Given the description of an element on the screen output the (x, y) to click on. 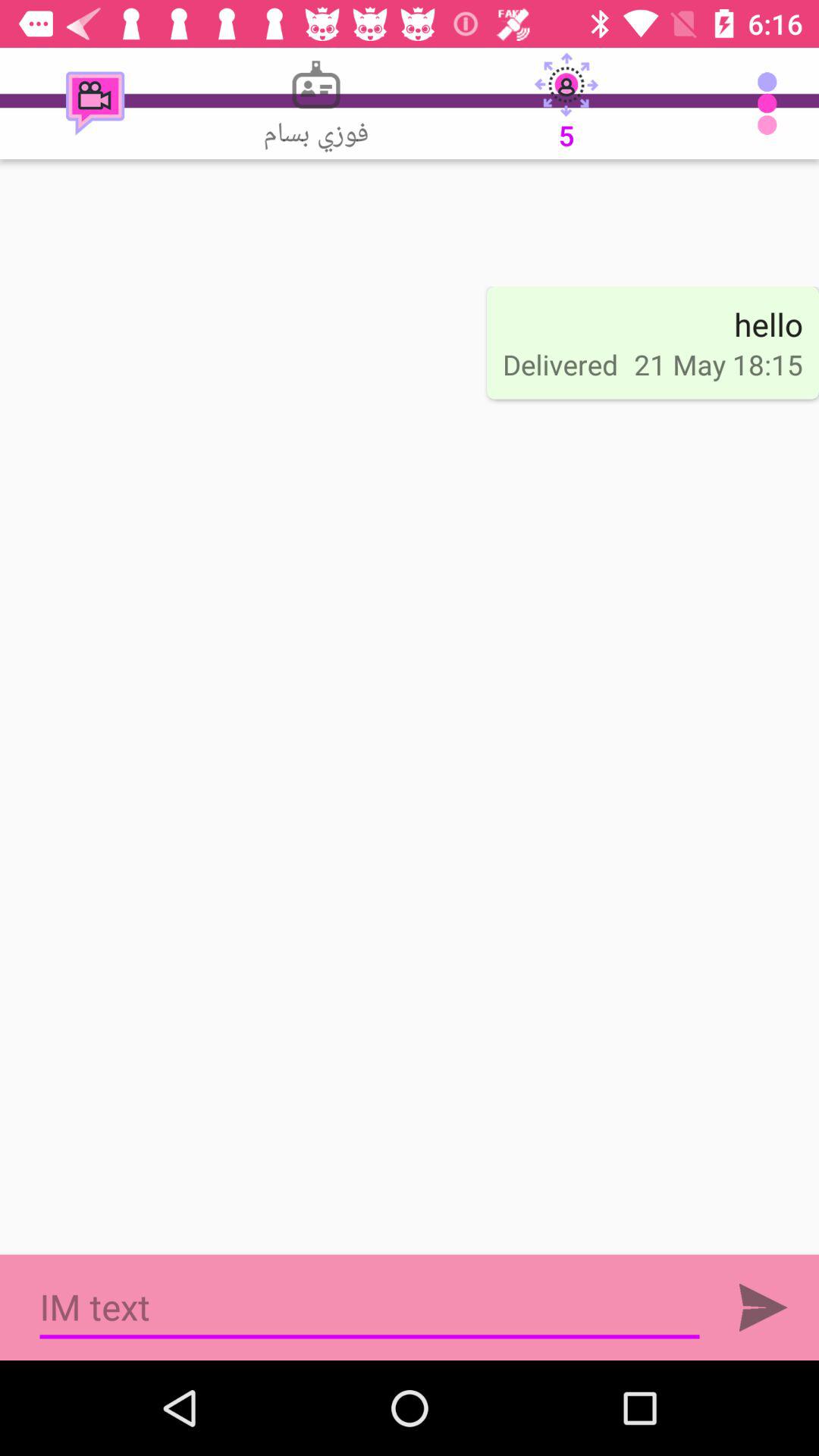
select item to the right of 5 icon (771, 103)
